Given the description of an element on the screen output the (x, y) to click on. 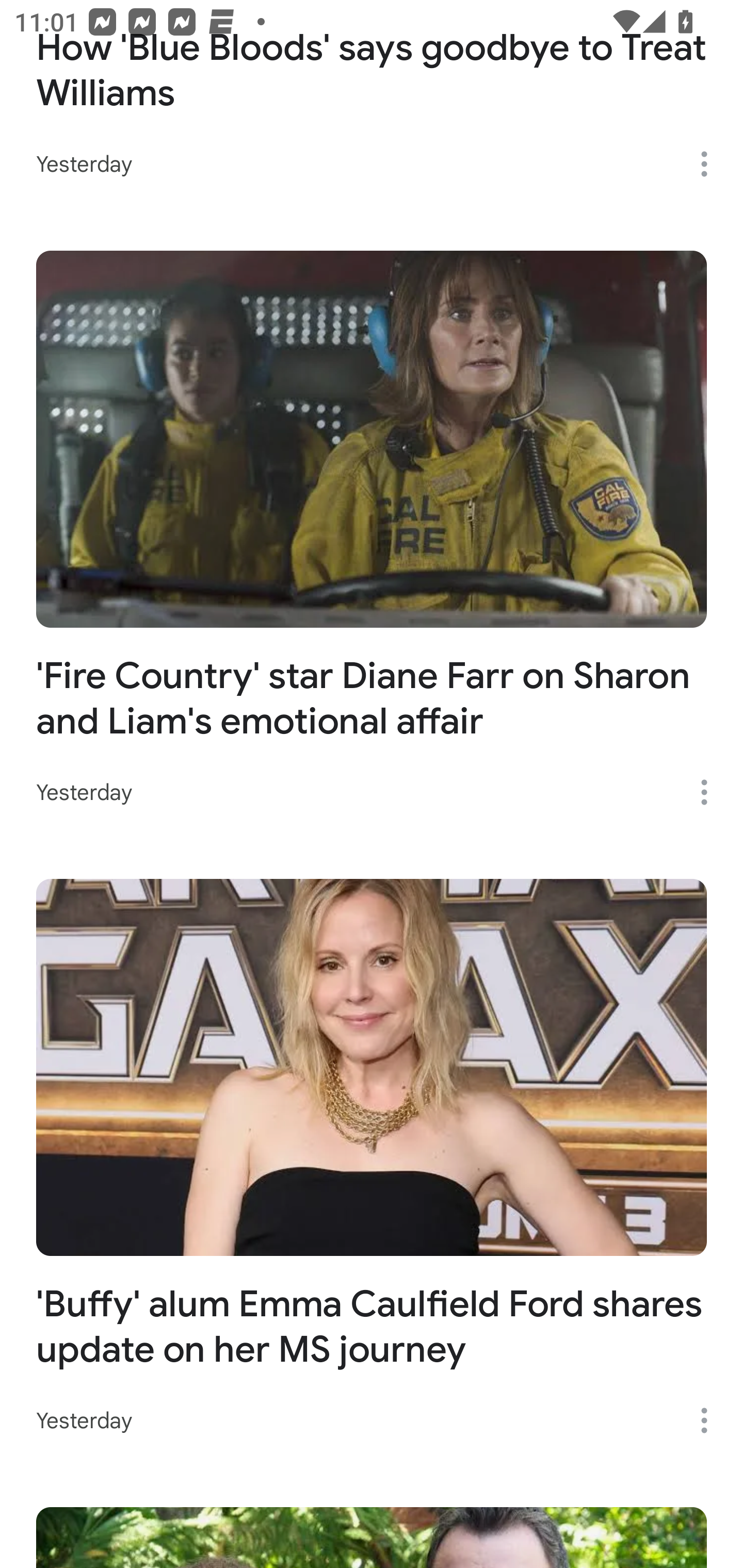
More options (711, 163)
More options (711, 792)
More options (711, 1420)
